Given the description of an element on the screen output the (x, y) to click on. 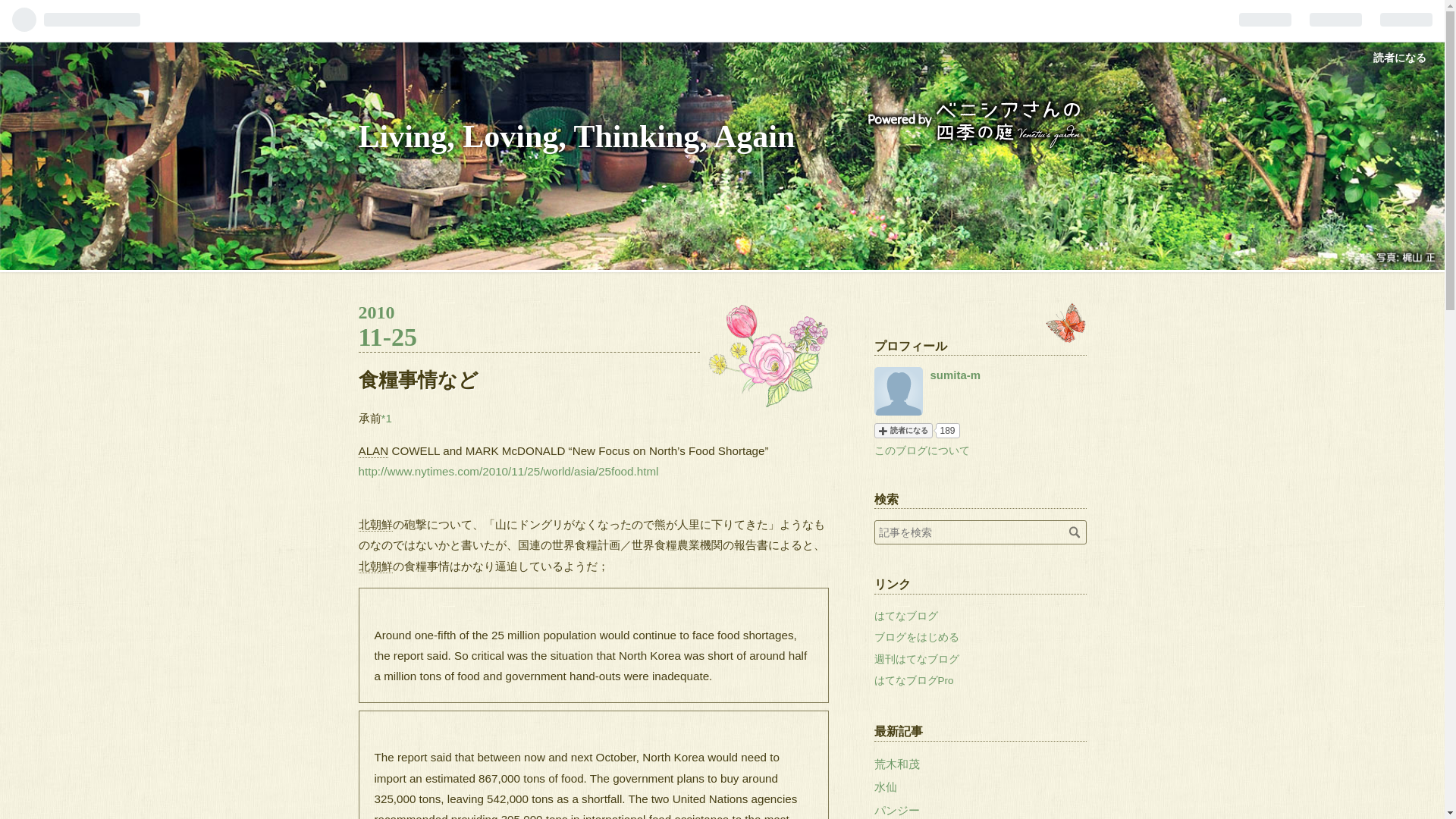
sumita-m (954, 374)
2010-11-25T04:19:17Z (528, 326)
most (528, 326)
ALAN (776, 816)
Living, Loving, Thinking, Again (373, 450)
